Given the description of an element on the screen output the (x, y) to click on. 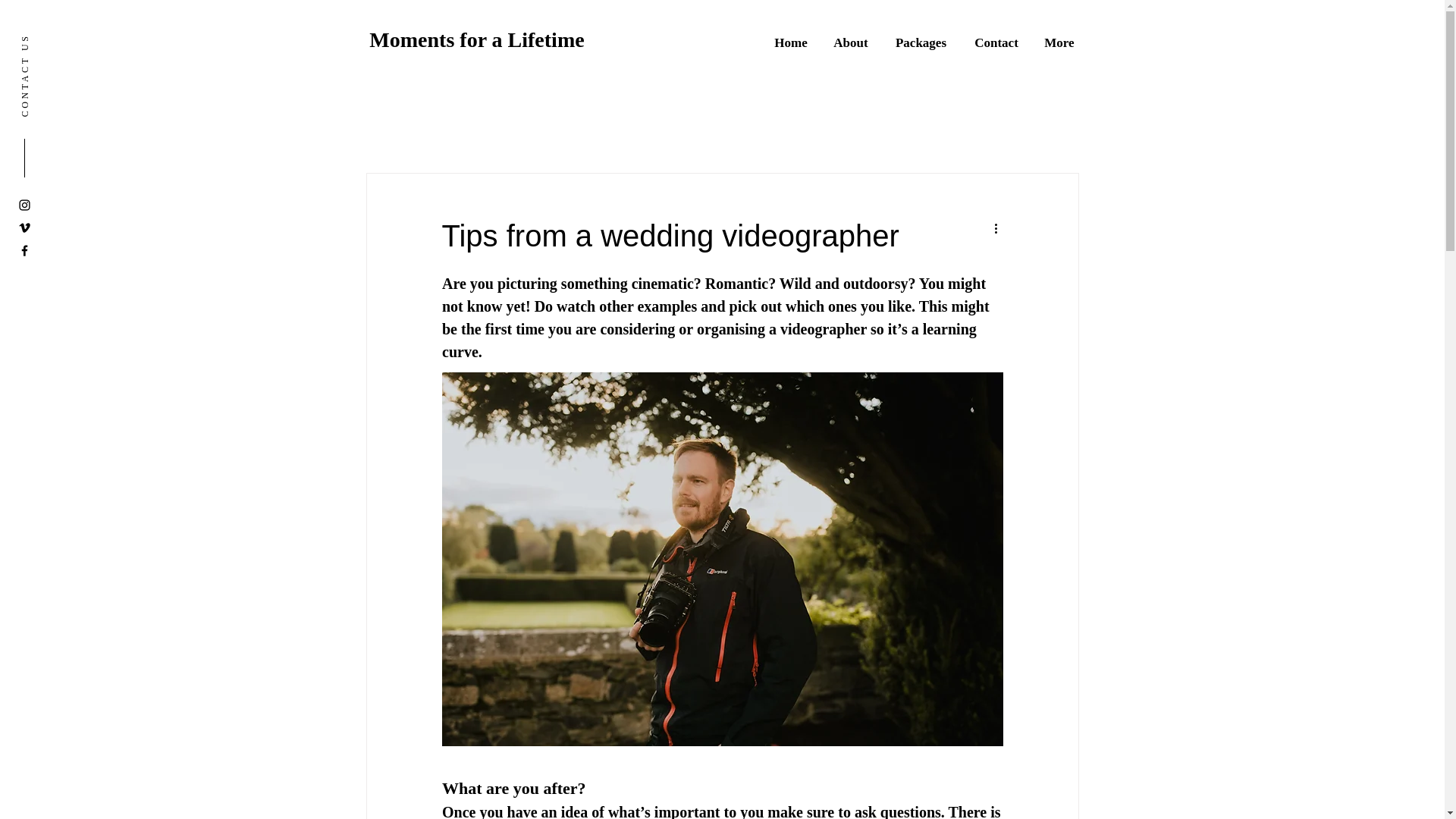
CONTACT US (61, 38)
Packages (920, 41)
About (850, 41)
Home (791, 41)
Contact (996, 41)
Moments for a Lifetime (476, 39)
